Given the description of an element on the screen output the (x, y) to click on. 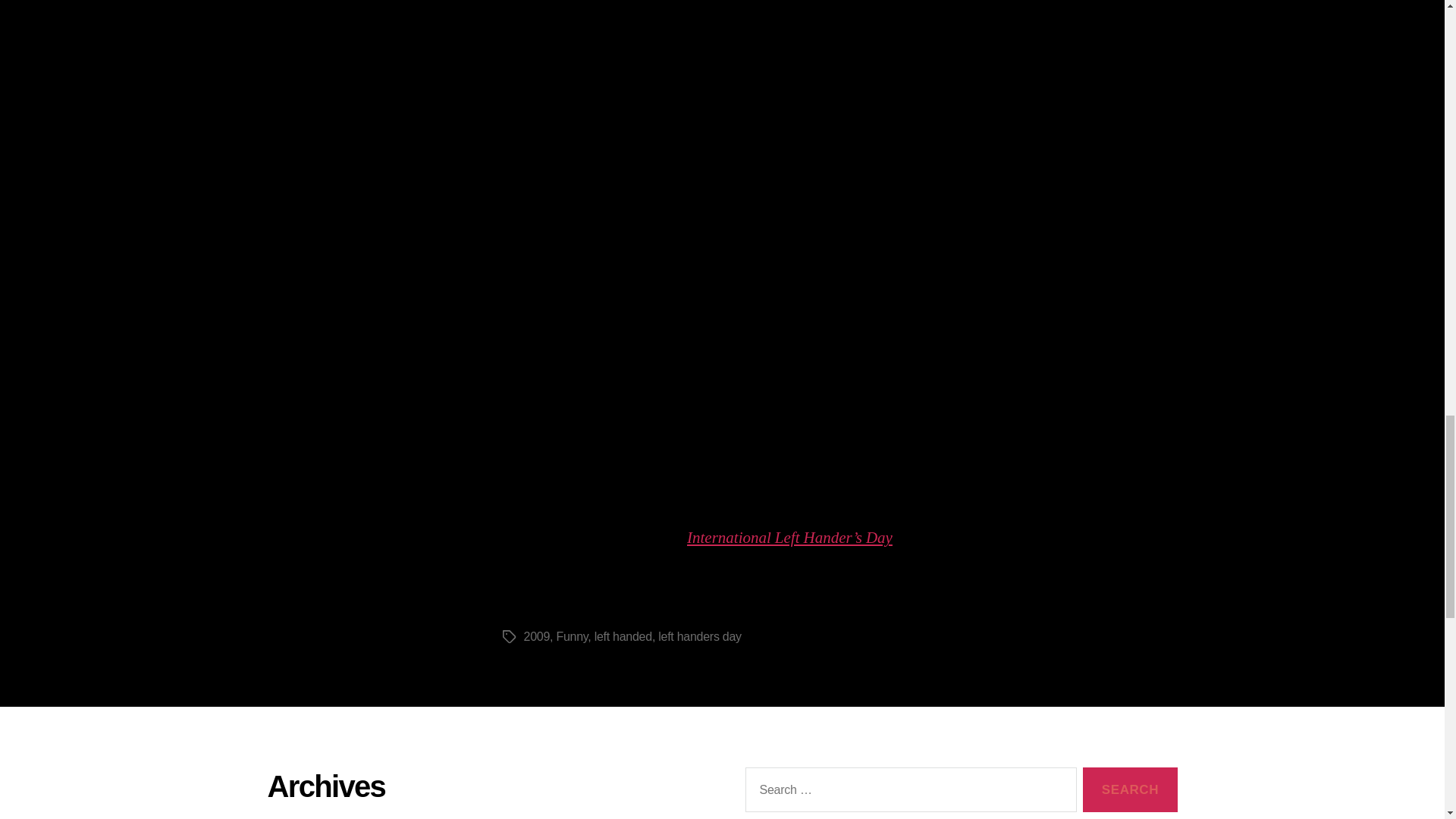
Search (1129, 789)
Search (1129, 789)
Search (1129, 789)
2009 (536, 635)
left handed (623, 635)
Funny (572, 635)
left handers day (699, 635)
